Given the description of an element on the screen output the (x, y) to click on. 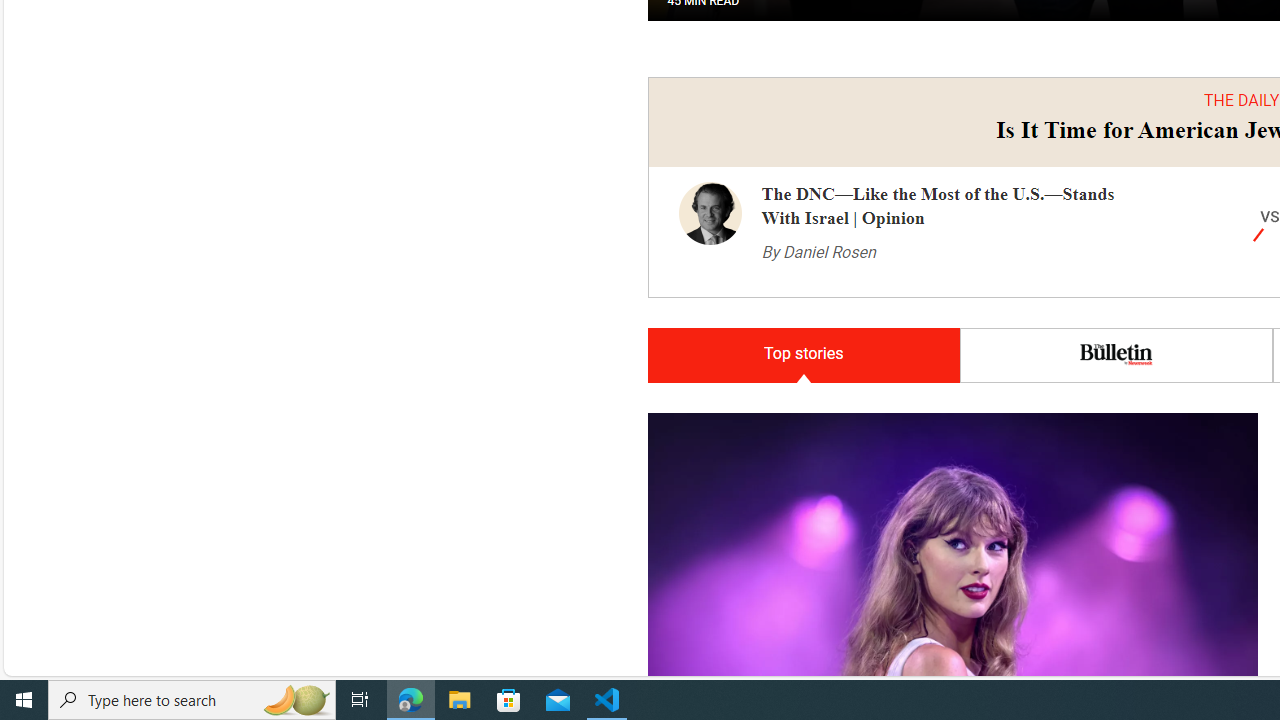
Type here to search (191, 699)
